Given the description of an element on the screen output the (x, y) to click on. 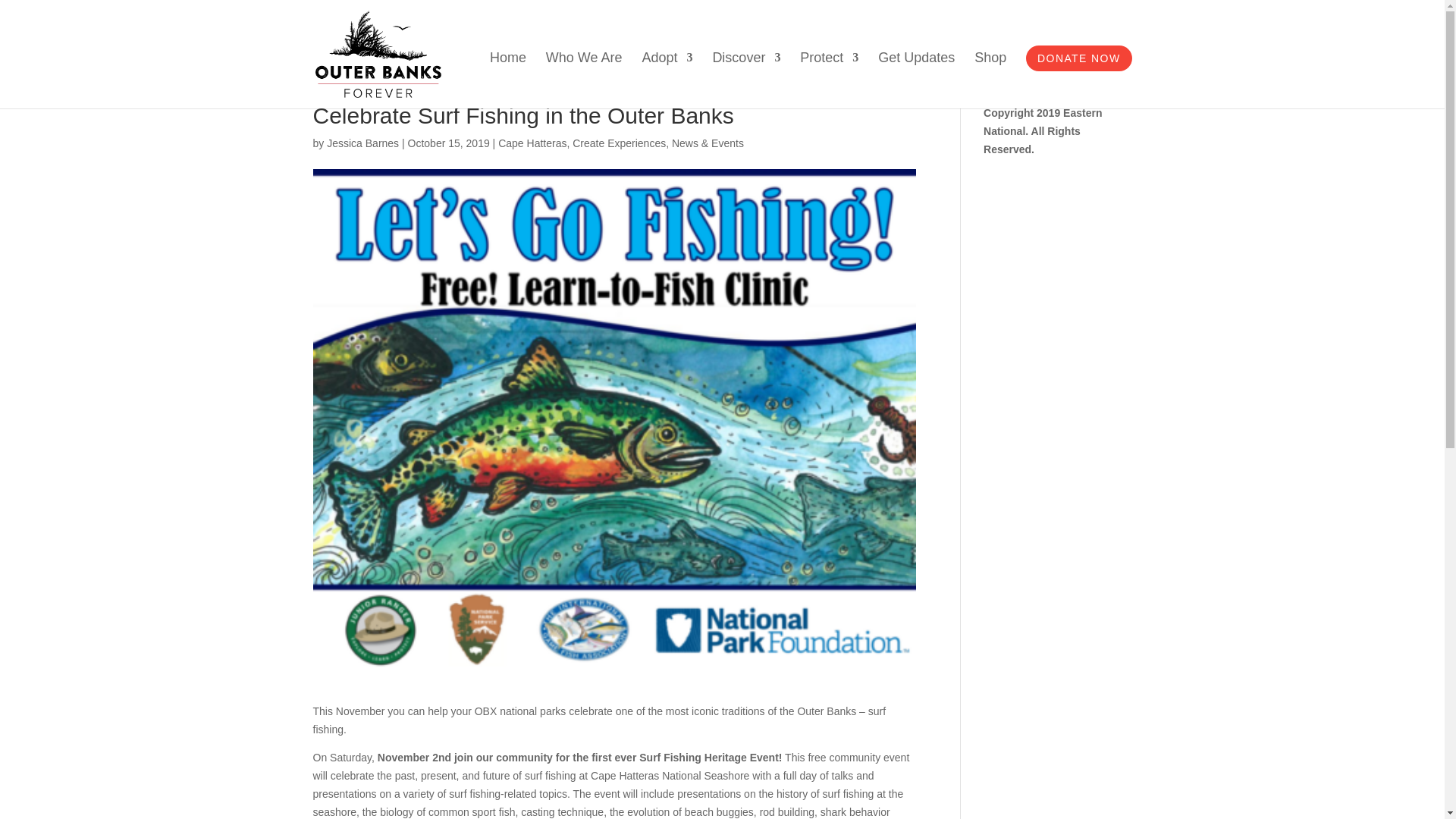
Create Experiences (618, 143)
Jessica Barnes (362, 143)
Get Updates (916, 80)
Adopt (667, 80)
Who We Are (584, 80)
Posts by Jessica Barnes (362, 143)
DONATE NOW (1078, 58)
Cape Hatteras (531, 143)
Protect (829, 80)
Discover (745, 80)
